Given the description of an element on the screen output the (x, y) to click on. 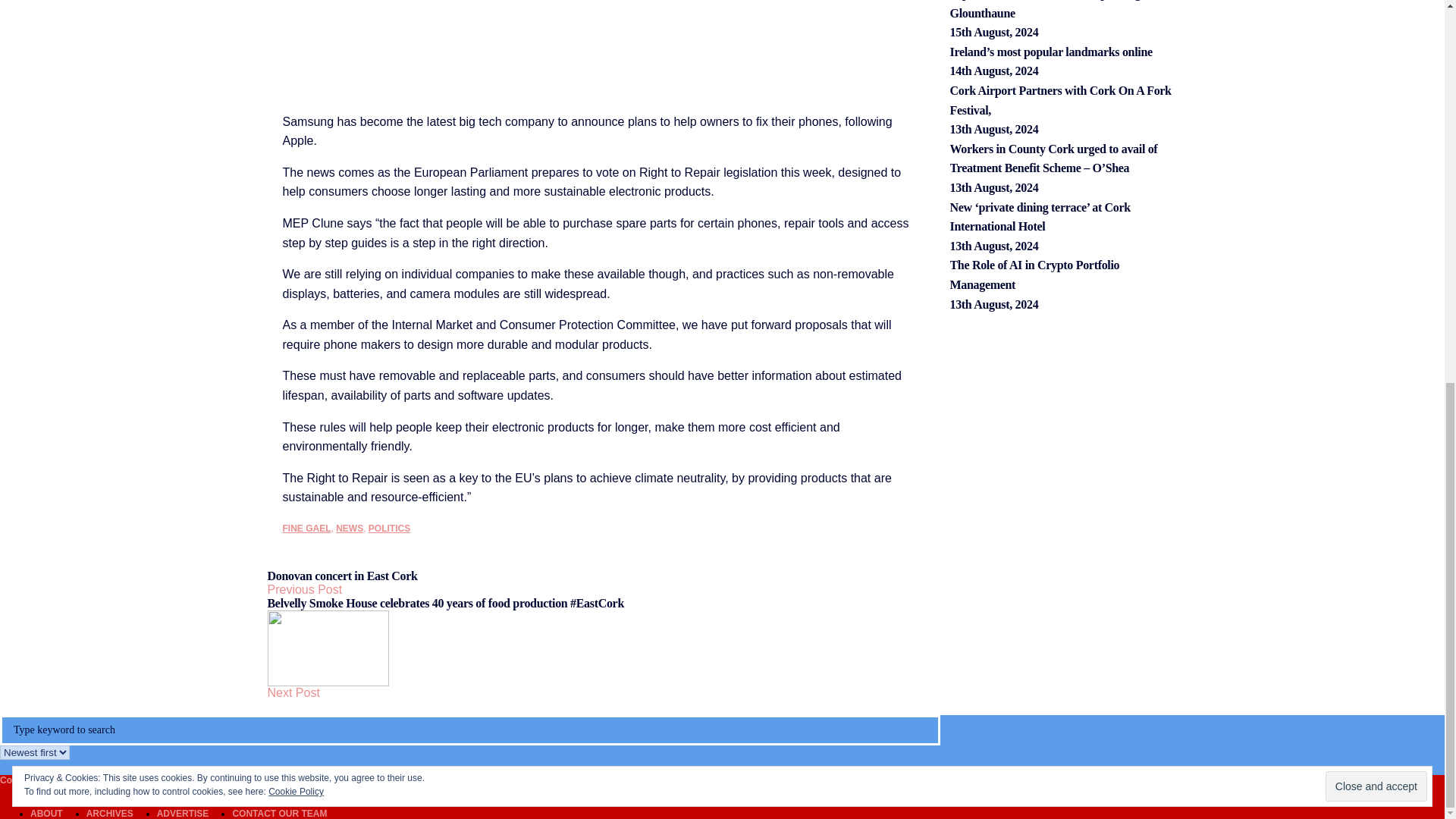
Type keyword to search (470, 729)
Type keyword to search (470, 729)
Close and accept (1375, 70)
